Given the description of an element on the screen output the (x, y) to click on. 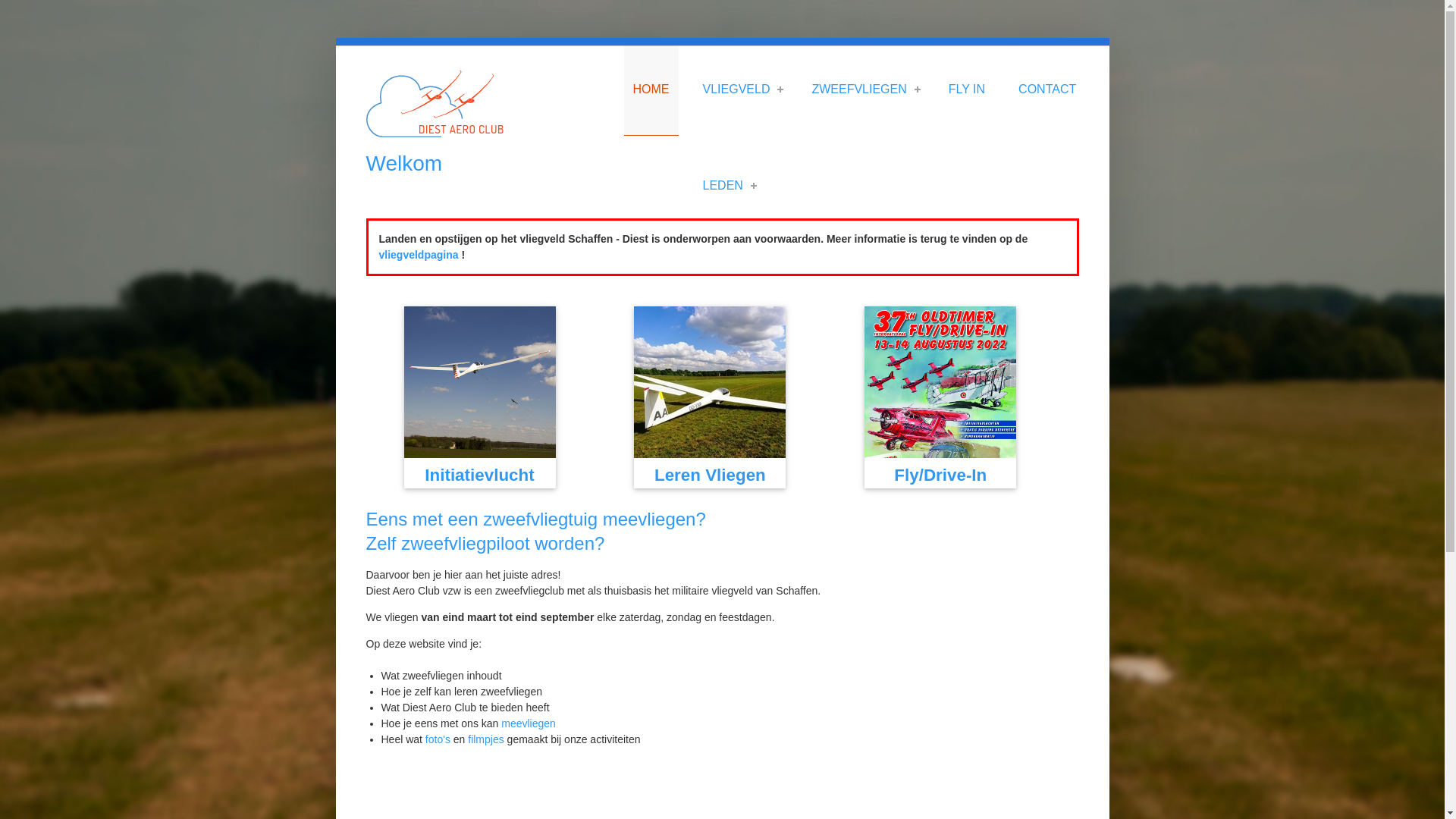
filmpjes Element type: text (485, 739)
Home Element type: hover (434, 133)
Initiatievlucht Element type: text (480, 476)
vliegveldpagina Element type: text (420, 254)
LEDEN Element type: text (726, 186)
Leren Vliegen Element type: text (711, 476)
Skip to main content Element type: text (44, 37)
ZWEEFVLIEGEN Element type: text (862, 90)
foto's Element type: text (437, 739)
Fly/Drive-In Element type: text (940, 476)
HOME Element type: text (650, 90)
meevliegen Element type: text (528, 723)
VLIEGVELD Element type: text (740, 90)
CONTACT Element type: text (1047, 90)
FLY IN Element type: text (966, 90)
